Given the description of an element on the screen output the (x, y) to click on. 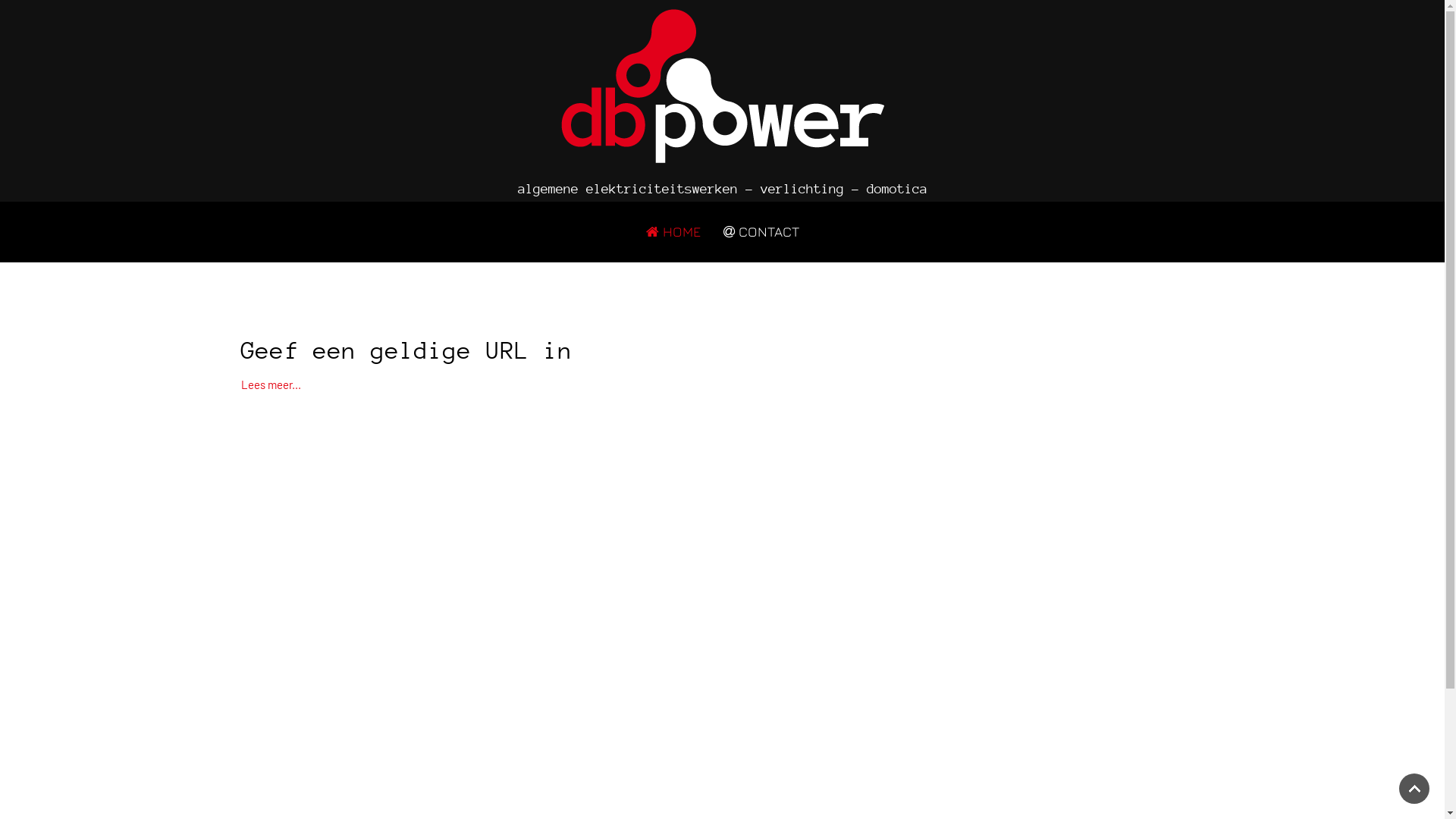
CONTACT Element type: text (760, 231)
Lees meer... Element type: text (271, 384)
HOME Element type: text (672, 231)
algemene elektriciteitswerken - verlichting - domotica Element type: text (721, 99)
